Given the description of an element on the screen output the (x, y) to click on. 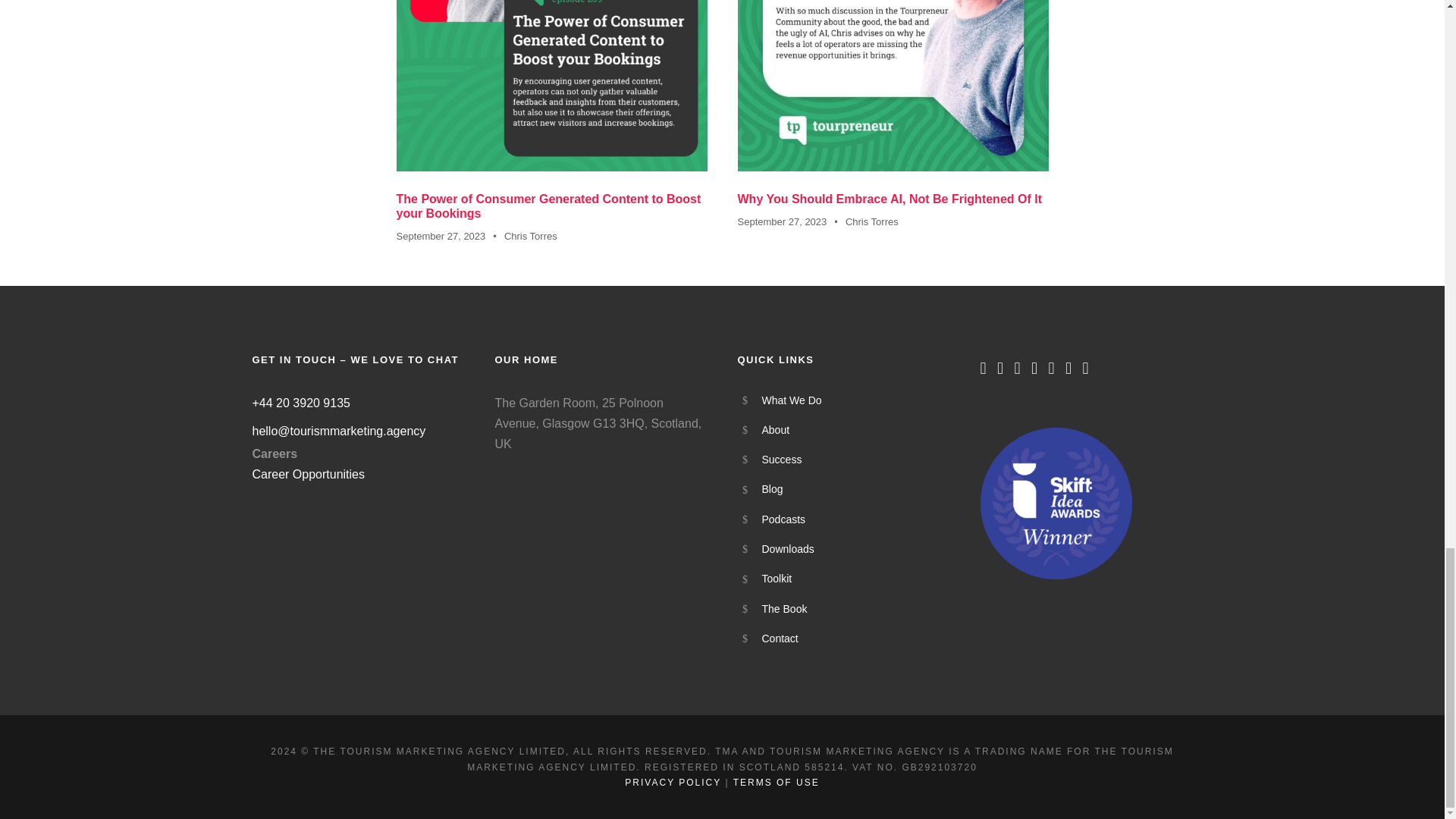
Why You Should Embrace AI, Not Be Frightened Of It (892, 85)
Posts by Chris Torres (530, 235)
September 27, 2023 (440, 235)
Chris Torres (530, 235)
Posts by Chris Torres (871, 221)
